Given the description of an element on the screen output the (x, y) to click on. 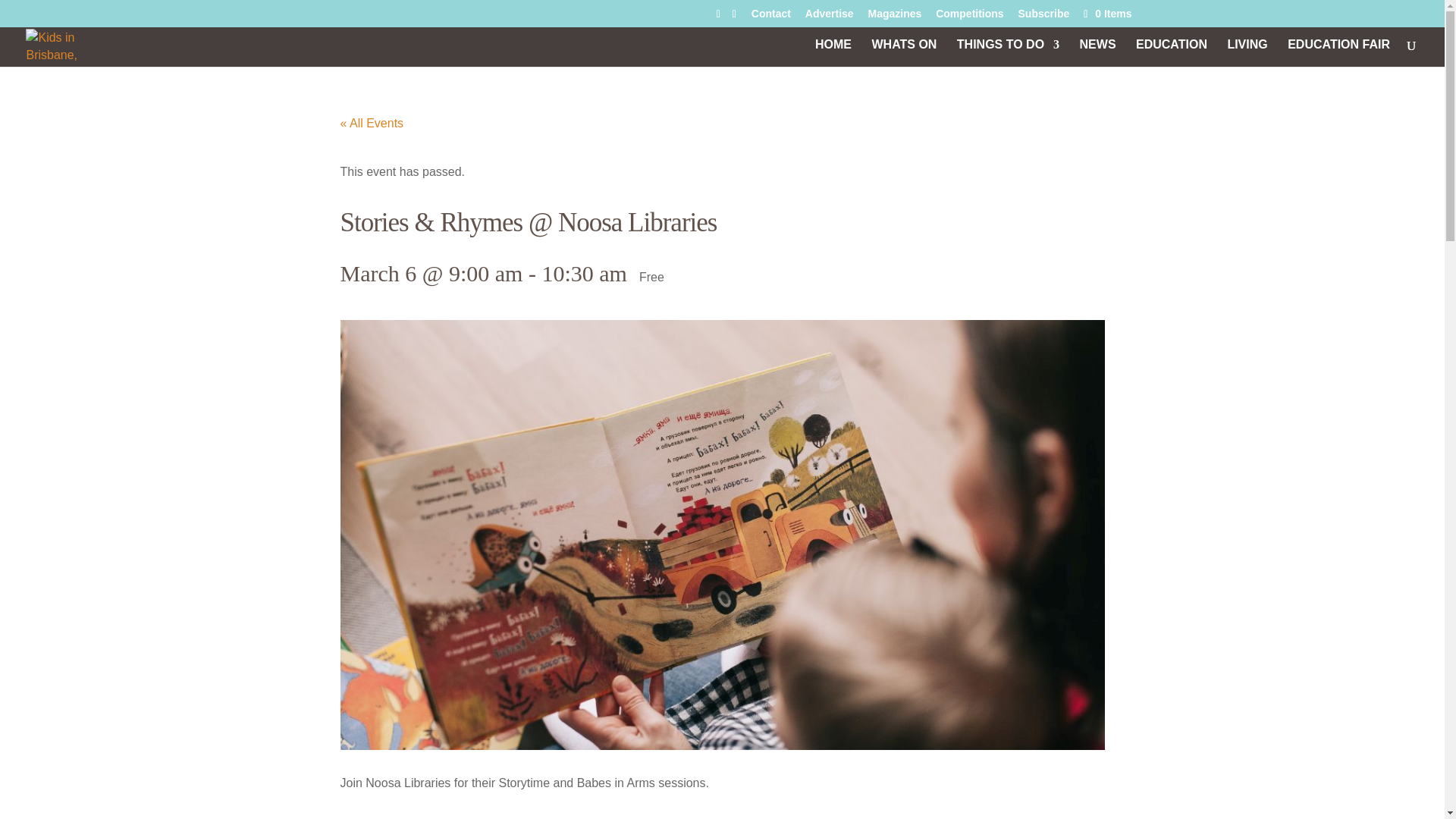
Kids events in Brisbane, Gold Coast, Sunshine Coast (903, 52)
Family magazine, Kids on the Coast, is an online for parents (1246, 52)
LIVING (1246, 52)
Contact (770, 16)
THINGS TO DO (1007, 52)
Competitions (969, 16)
Subscribe (1043, 16)
EDUCATION FAIR (1338, 52)
